Given the description of an element on the screen output the (x, y) to click on. 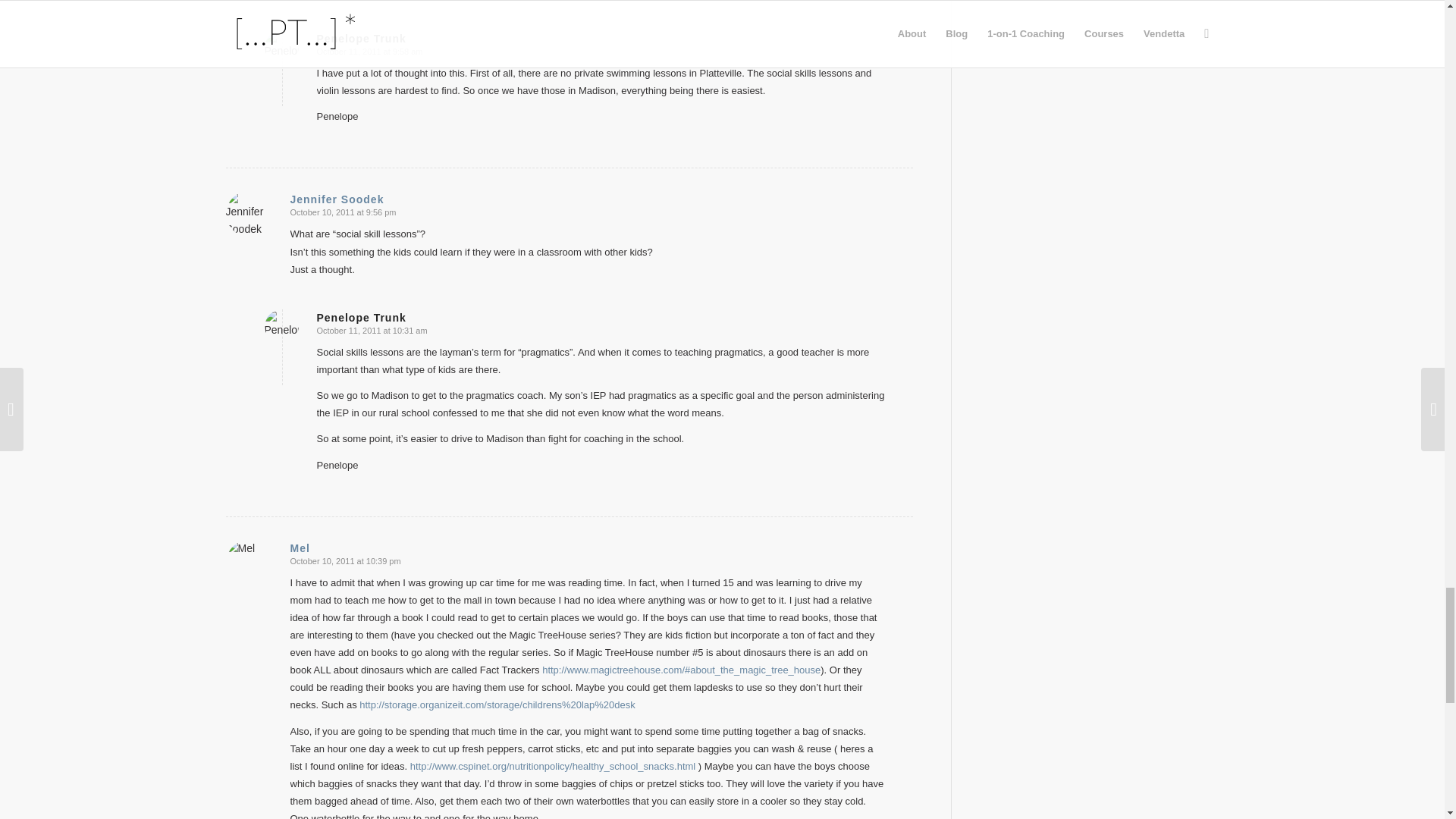
October 11, 2011 at 10:31 am (372, 329)
Mel (298, 548)
Jennifer Soodek (336, 199)
October 11, 2011 at 9:58 am (370, 51)
October 10, 2011 at 10:39 pm (344, 560)
October 10, 2011 at 9:56 pm (342, 212)
